Given the description of an element on the screen output the (x, y) to click on. 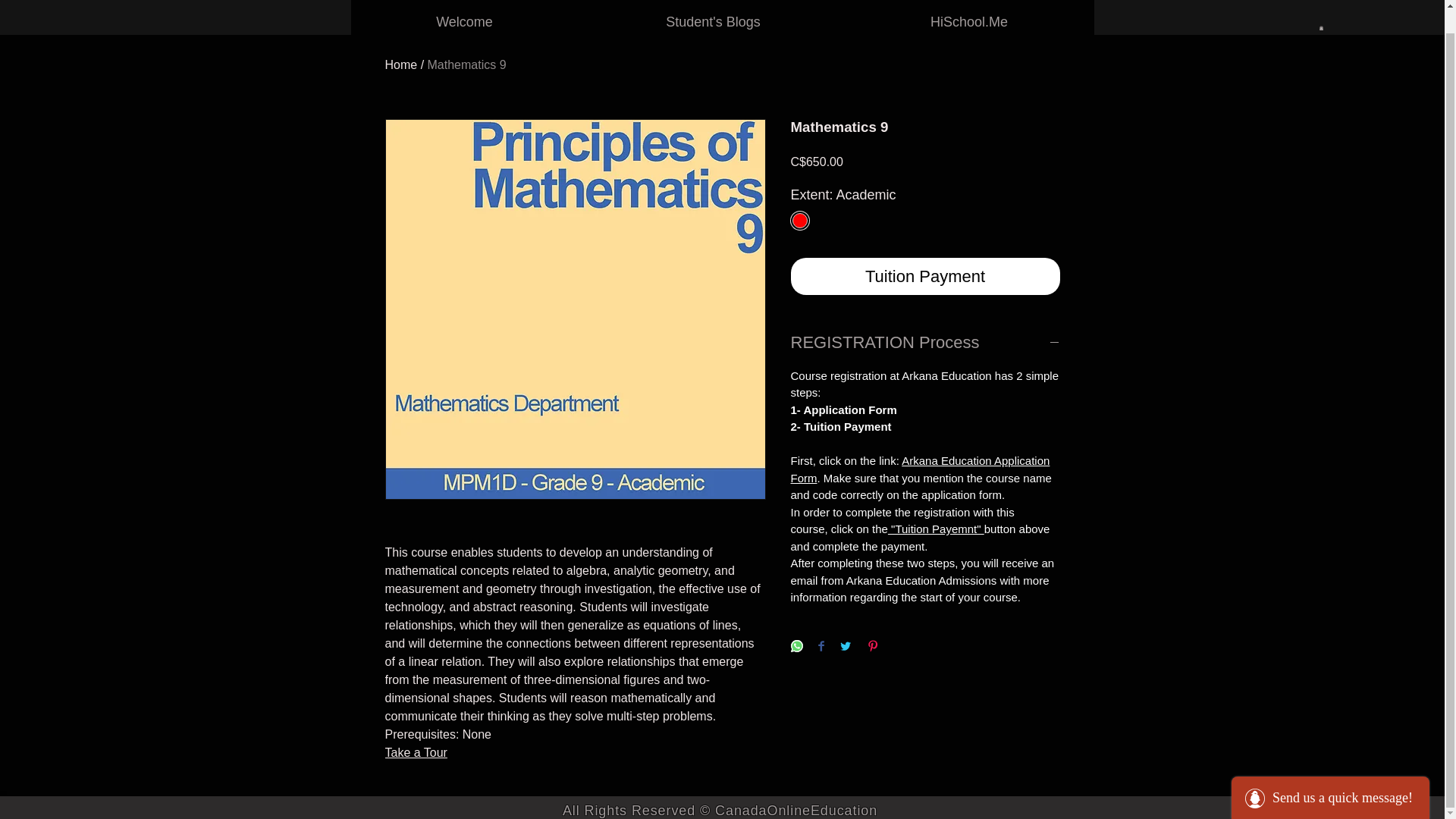
Tuition Payment (924, 275)
Mathematics 9 (467, 64)
HiSchool.Me (969, 5)
Welcome (464, 5)
Home (401, 64)
Take a Tour (415, 752)
Student's Blogs (713, 5)
REGISTRATION Process (924, 342)
Arkana Education Application Form (919, 469)
